Given the description of an element on the screen output the (x, y) to click on. 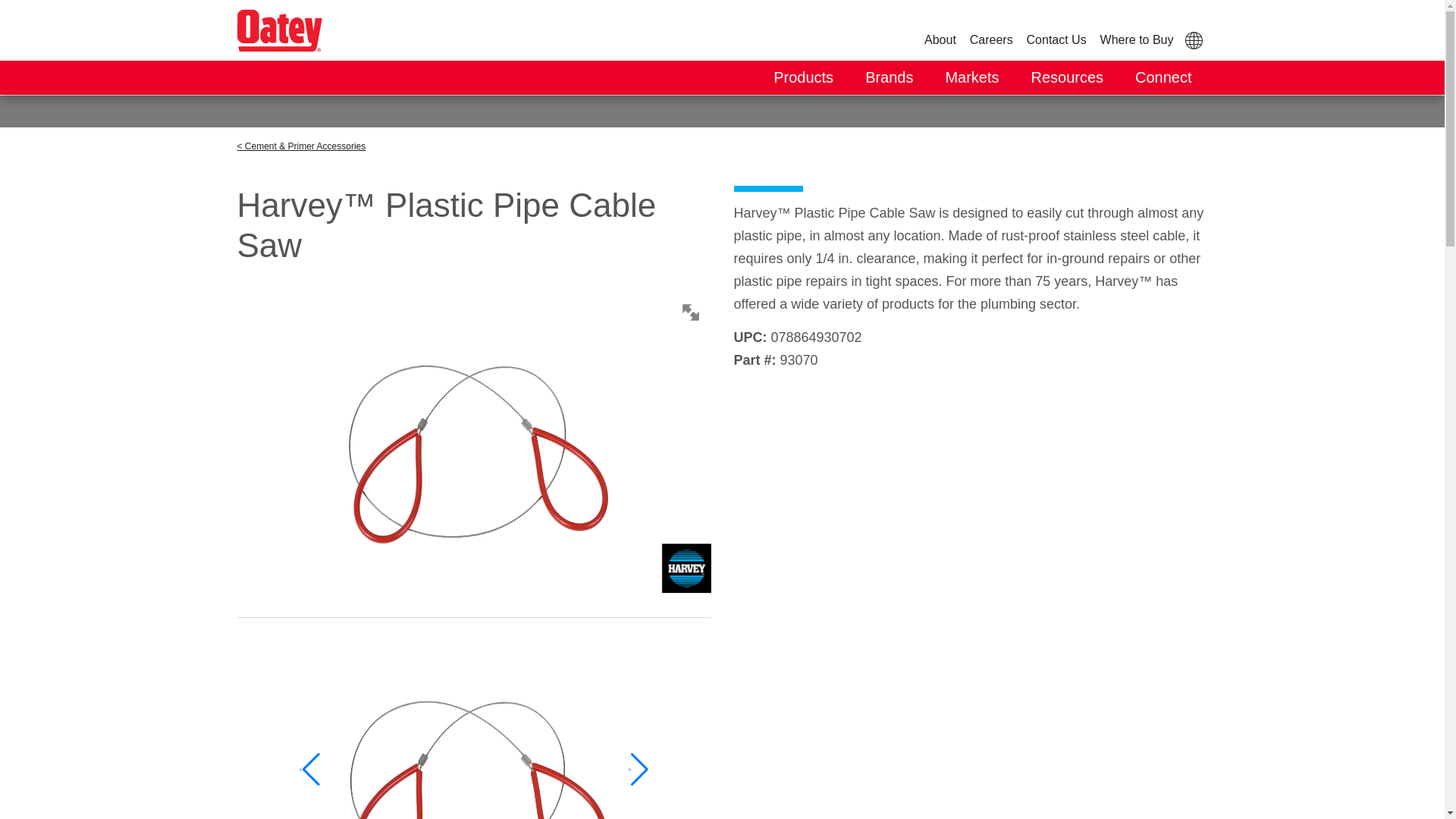
Products (802, 77)
Where to Buy (1136, 39)
Careers (990, 39)
Contact Us (1057, 39)
Contact (1057, 39)
Connect (1163, 77)
About (939, 39)
Brands (888, 77)
Where to Buy Oatey Products (1136, 39)
Careers (990, 39)
